Given the description of an element on the screen output the (x, y) to click on. 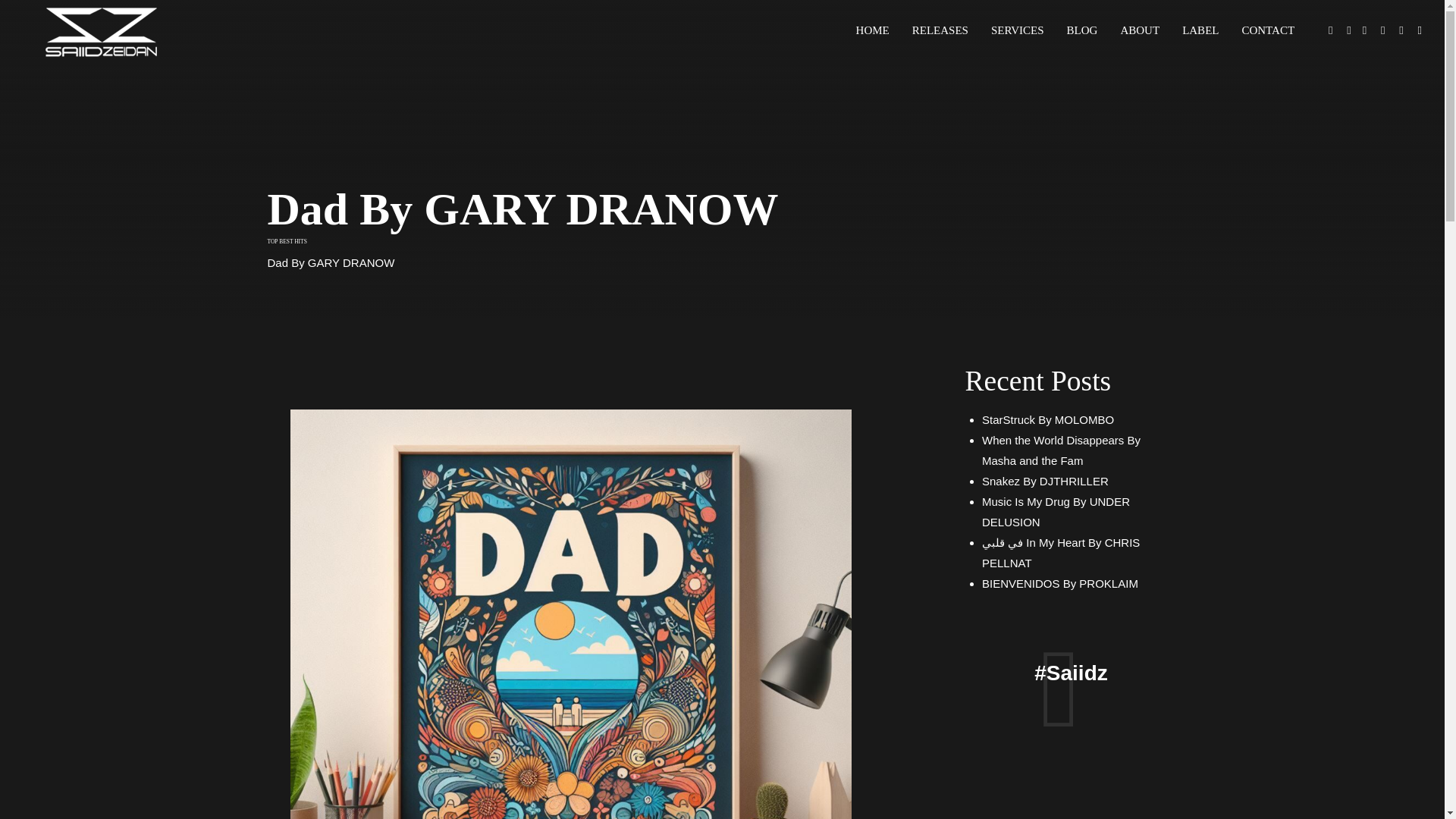
BIENVENIDOS By PROKLAIM (1059, 583)
RELEASES (940, 30)
Snakez By DJTHRILLER (1044, 481)
TOP BEST HITS (285, 241)
StarStruck By MOLOMBO (1047, 419)
When the World Disappears By Masha and the Fam (1060, 450)
Music Is My Drug By UNDER DELUSION (1055, 511)
